Given the description of an element on the screen output the (x, y) to click on. 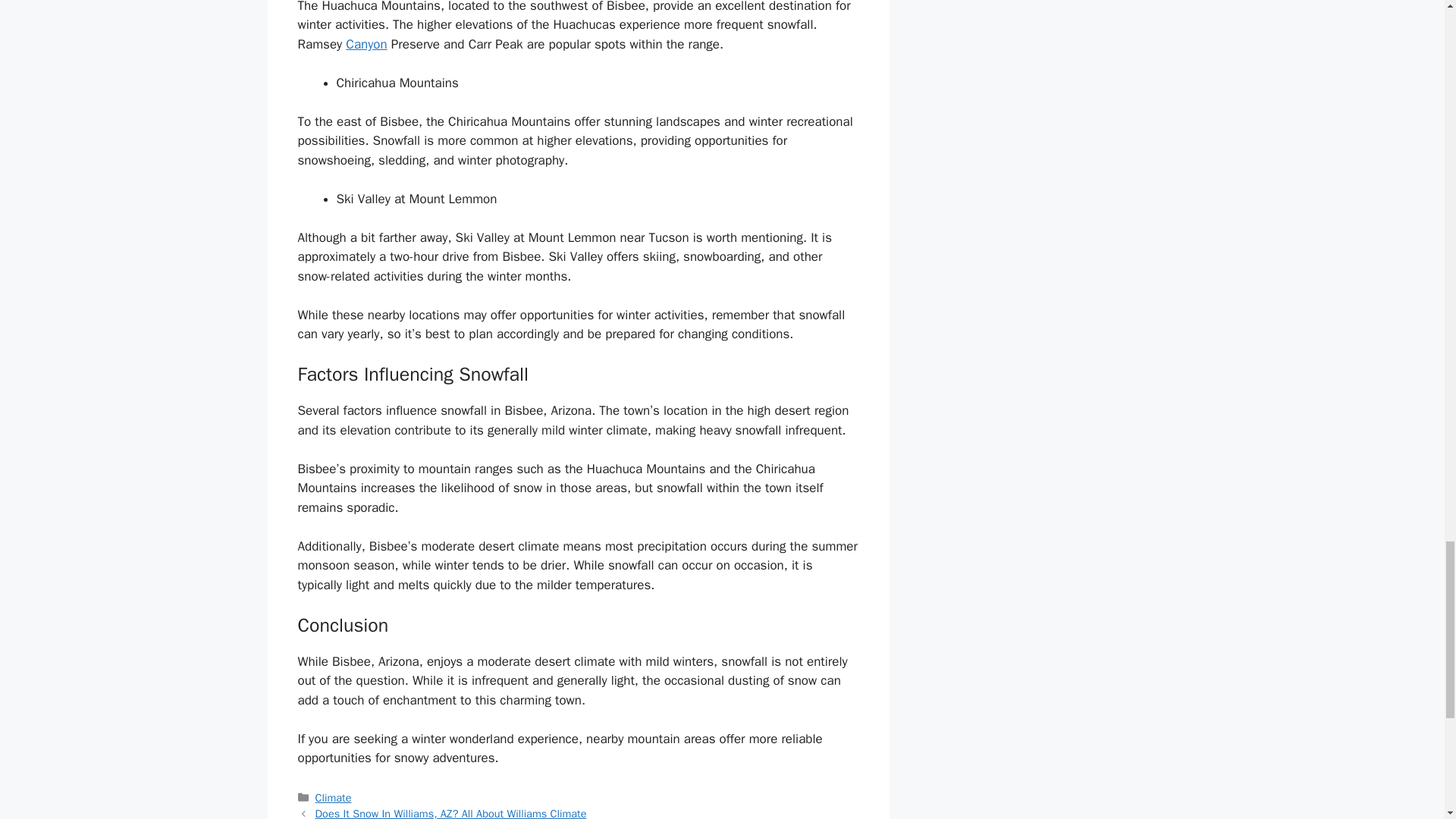
Canyon (366, 44)
Climate (333, 797)
Does It Snow In Williams, AZ? All About Williams Climate (450, 812)
